Given the description of an element on the screen output the (x, y) to click on. 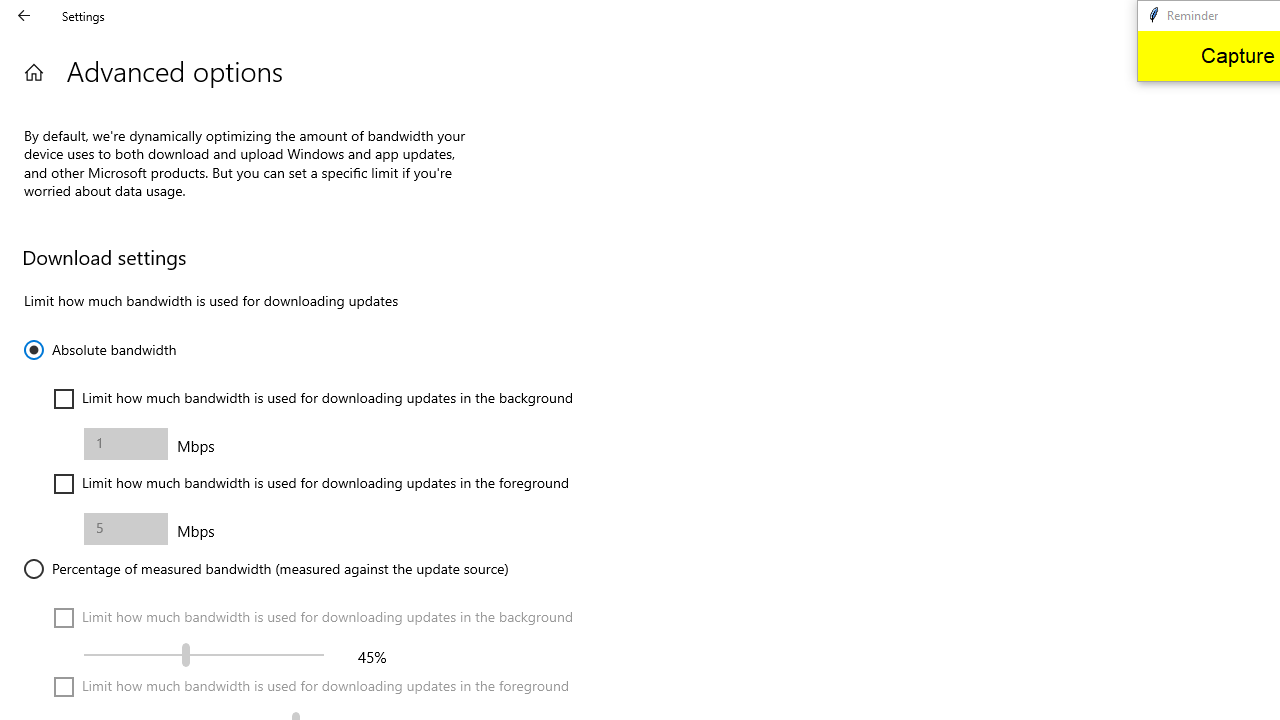
Absolute bandwidth (100, 349)
Absolute background bandwidth (125, 443)
Absolute foreground bandwidth (125, 528)
Back (24, 15)
Home (33, 71)
